Given the description of an element on the screen output the (x, y) to click on. 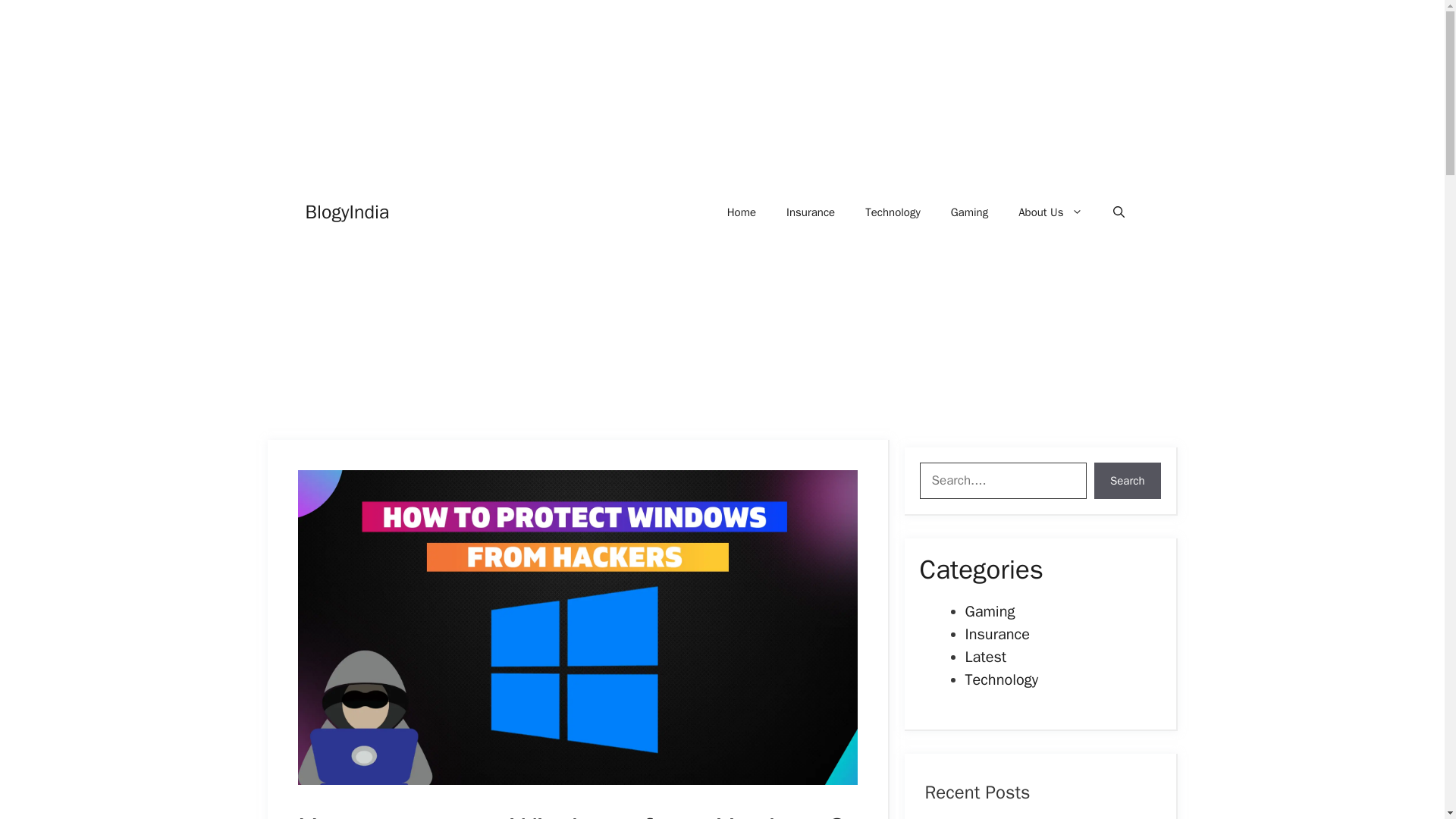
Technology (893, 212)
About Us (1050, 212)
Home (741, 212)
Insurance (996, 633)
Latest (984, 656)
Gaming (969, 212)
Insurance (810, 212)
BlogyIndia (346, 212)
Gaming (988, 610)
Technology (1000, 679)
Search (1127, 480)
